Given the description of an element on the screen output the (x, y) to click on. 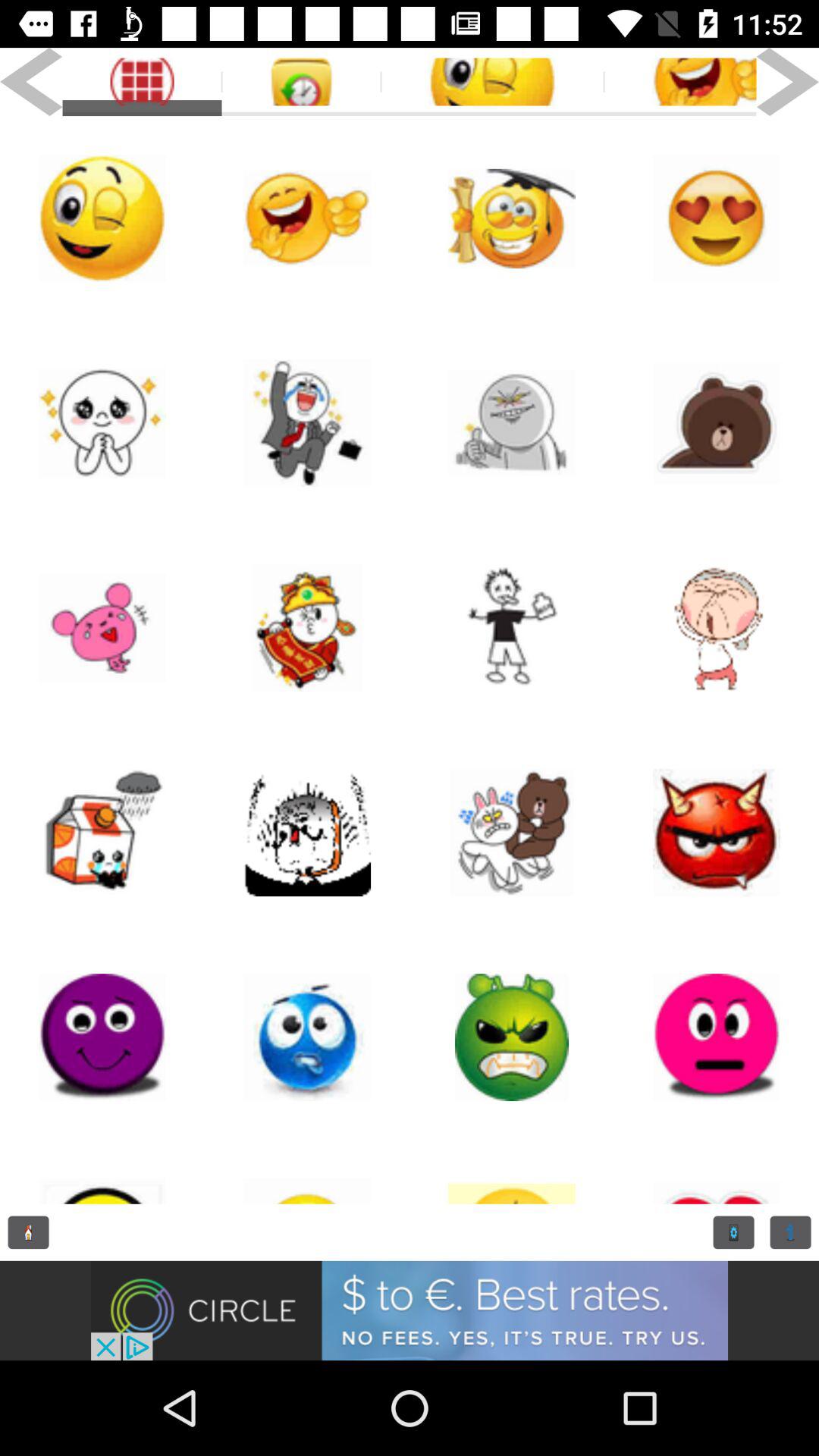
sticker button (511, 422)
